Given the description of an element on the screen output the (x, y) to click on. 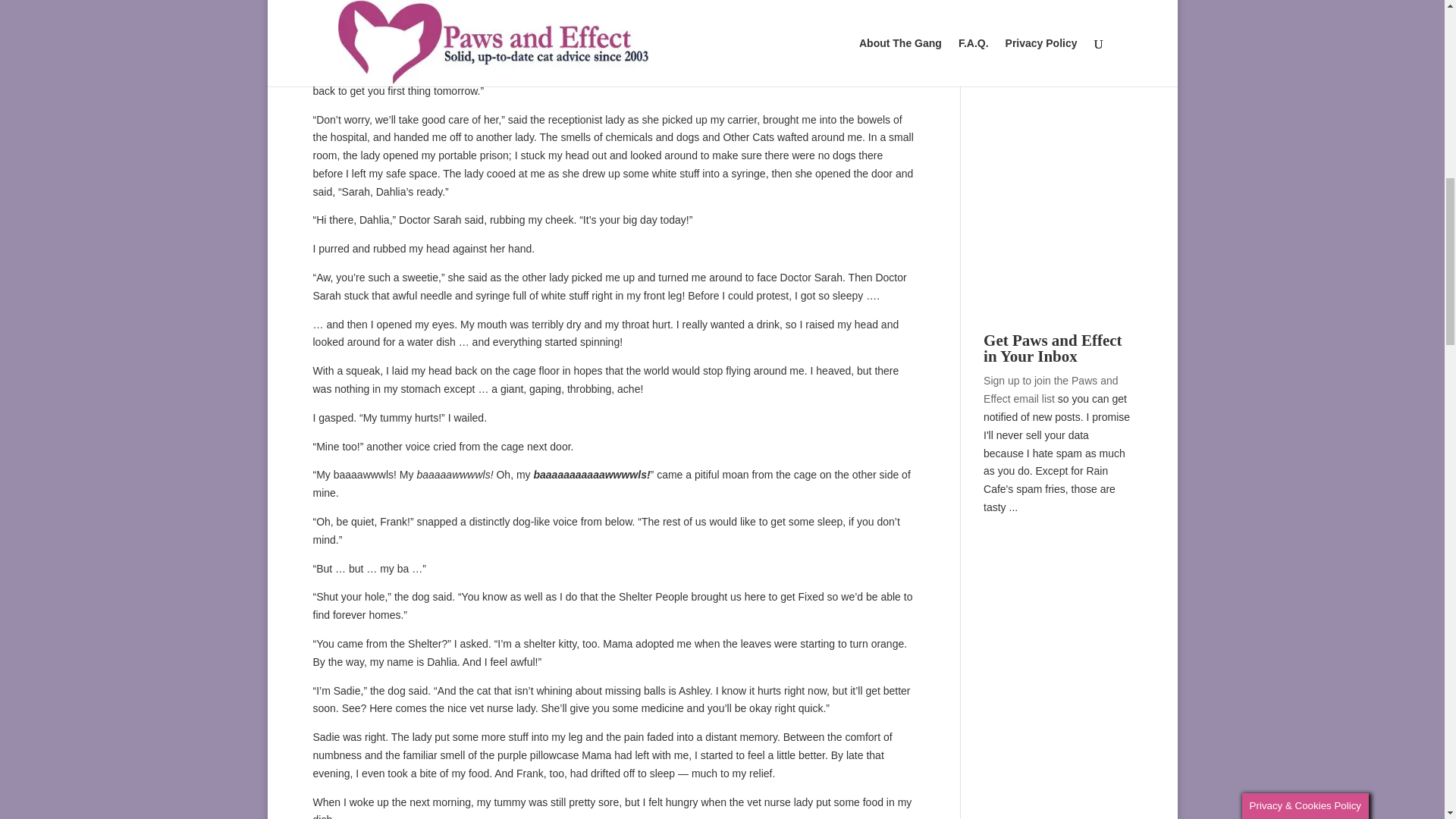
Sign up to join the Paws and Effect email list (1051, 389)
